Given the description of an element on the screen output the (x, y) to click on. 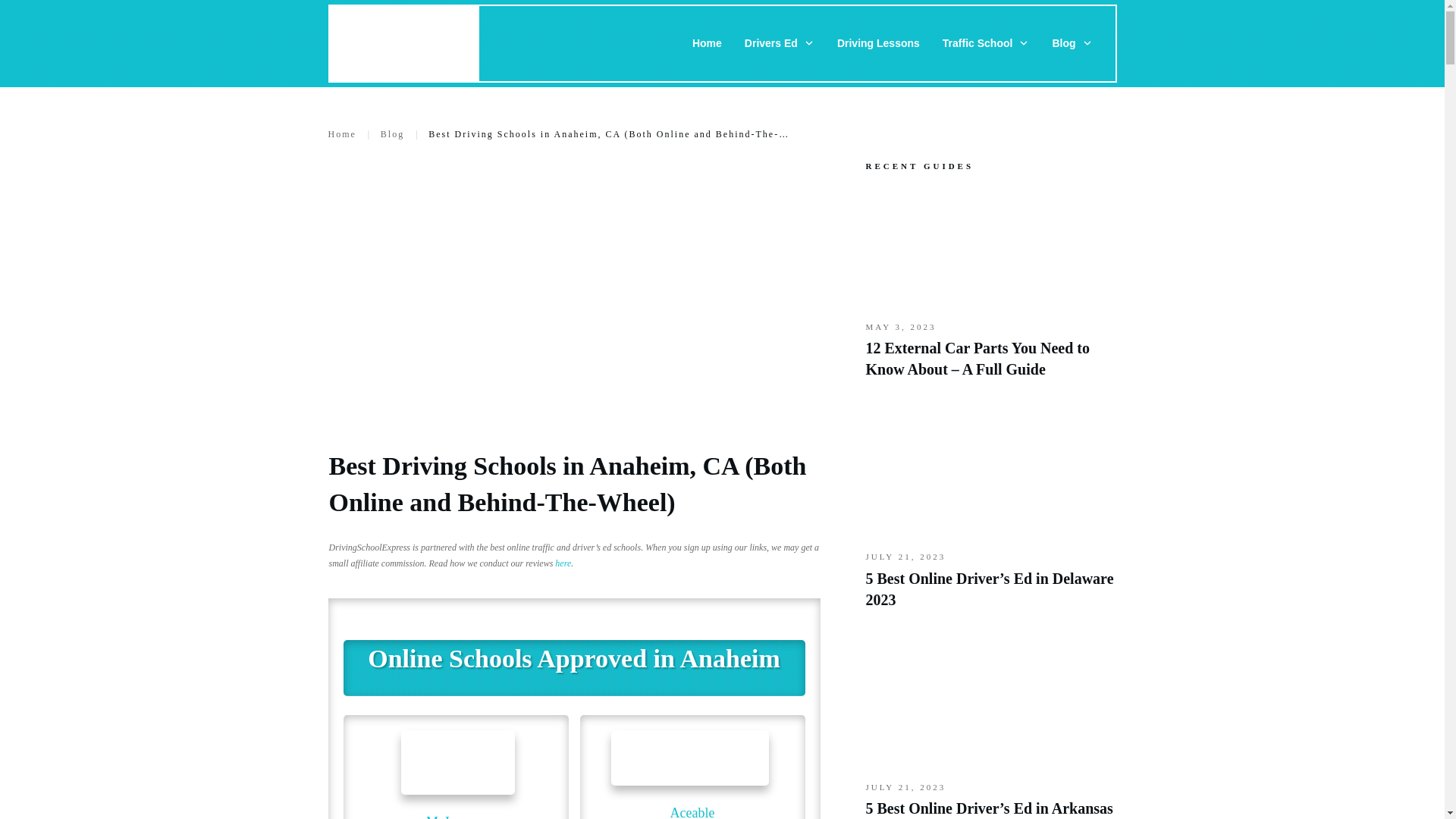
here (562, 562)
MyImprov (455, 816)
Traffic School (985, 43)
Home (707, 43)
Blog (1071, 43)
Home (341, 134)
Blog (392, 134)
Driving Lessons (878, 43)
Aceable (691, 812)
